Given the description of an element on the screen output the (x, y) to click on. 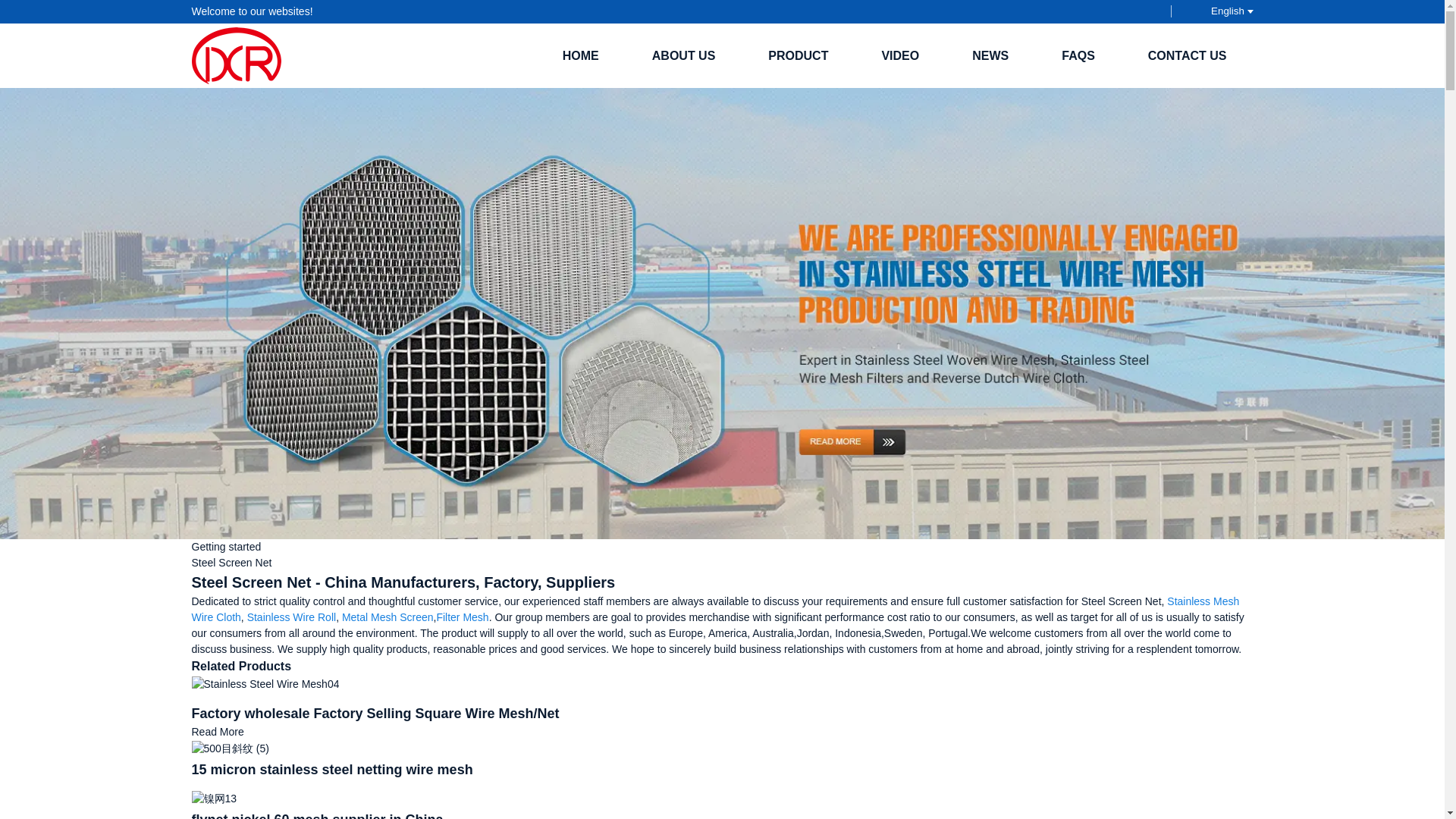
Stainless Wire Roll (291, 616)
HOME (580, 55)
English (1219, 10)
Stainless Mesh Wire Cloth (714, 609)
15 micron stainless steel netting wire mesh (228, 747)
Getting started (225, 546)
Stainless Mesh Wire Cloth (714, 609)
FAQS (1078, 55)
VIDEO (899, 55)
flynet nickel 60 mesh supplier in China (212, 797)
